Given the description of an element on the screen output the (x, y) to click on. 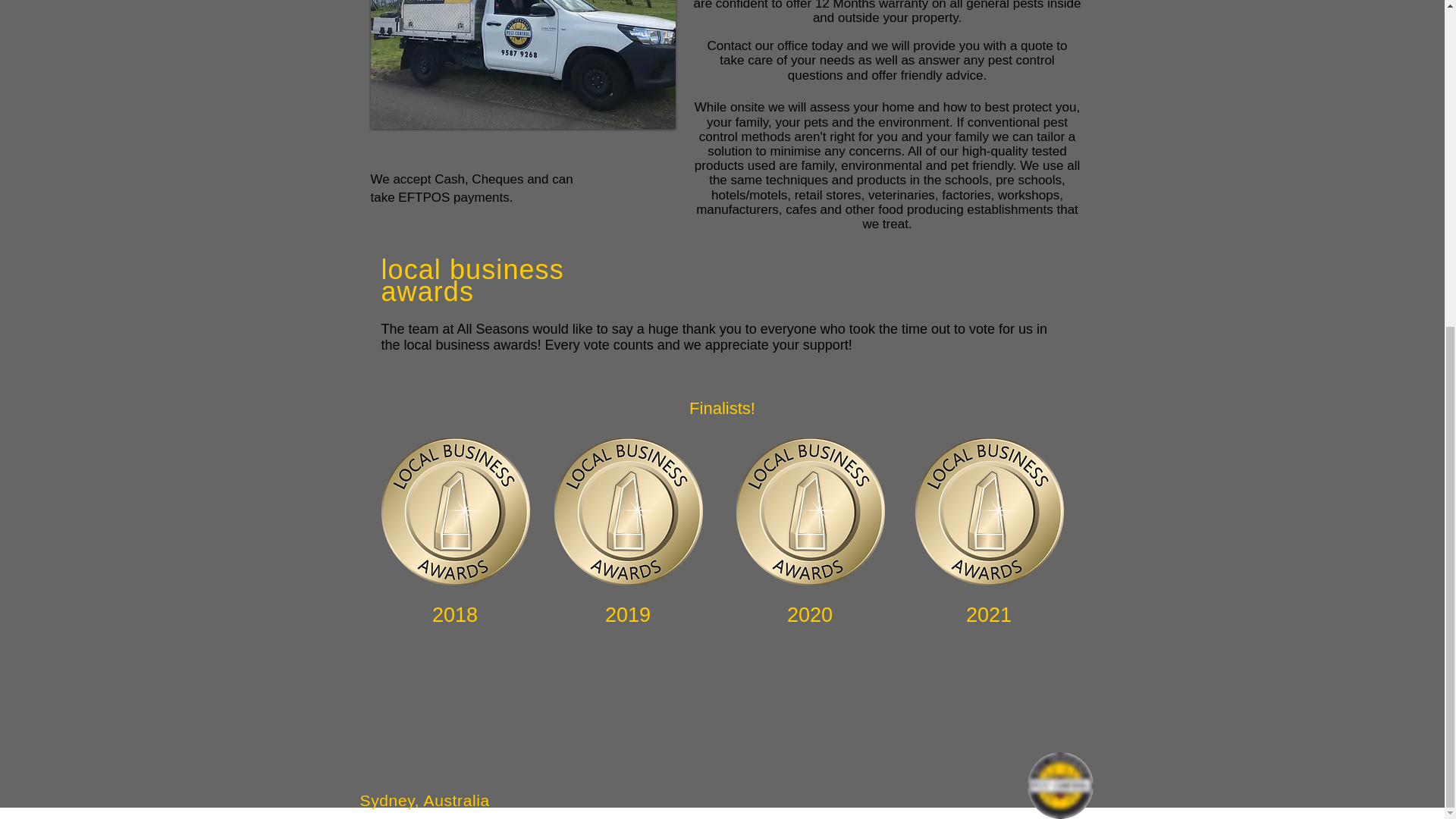
All Seasons Pest Control Ute  (522, 64)
